Given the description of an element on the screen output the (x, y) to click on. 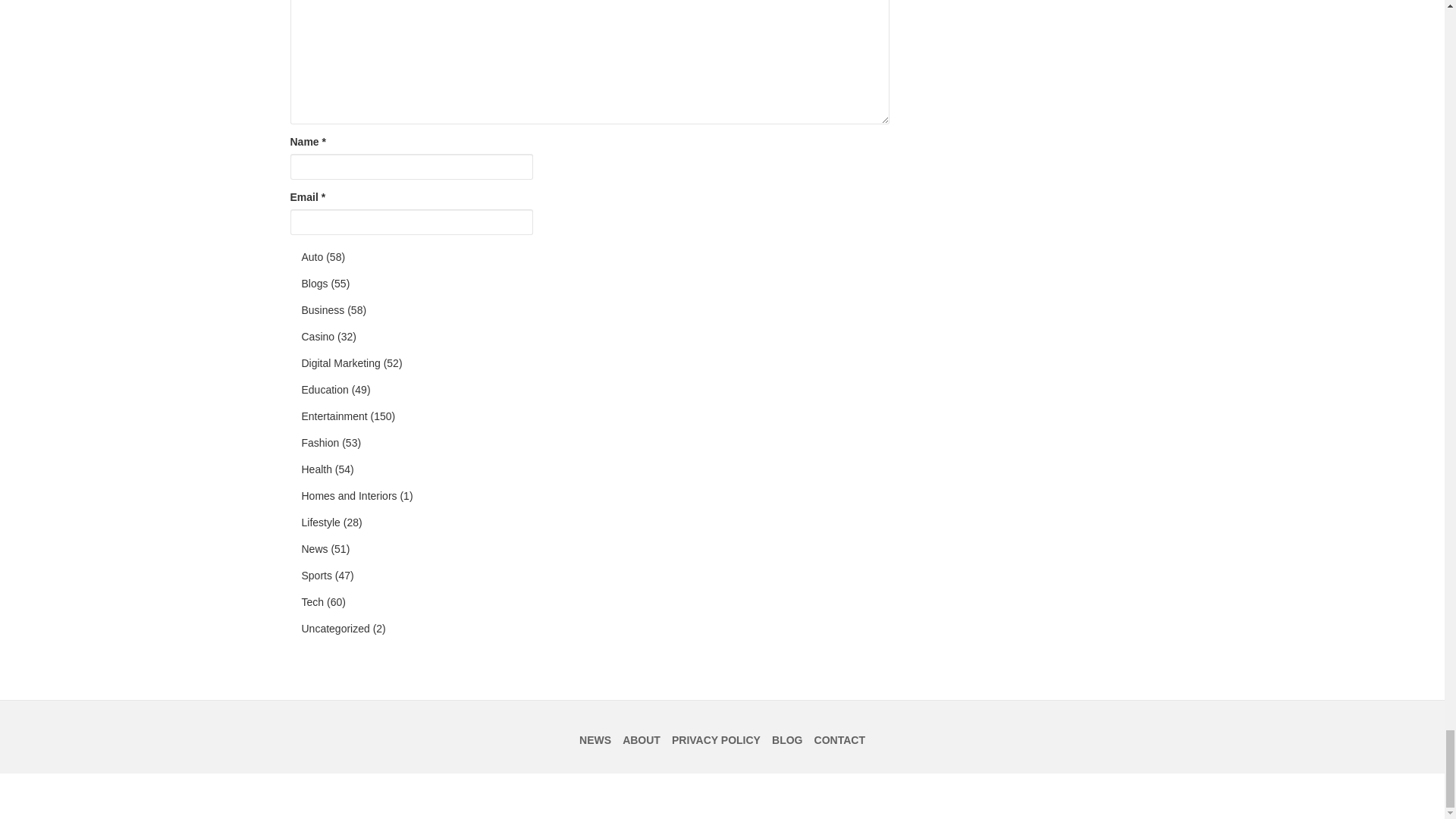
Entertainment (334, 417)
Fashion (320, 443)
Blogs (315, 283)
Business (323, 310)
Digital Marketing (340, 363)
Health (316, 469)
Auto (312, 257)
Education (325, 390)
Casino (317, 337)
